Given the description of an element on the screen output the (x, y) to click on. 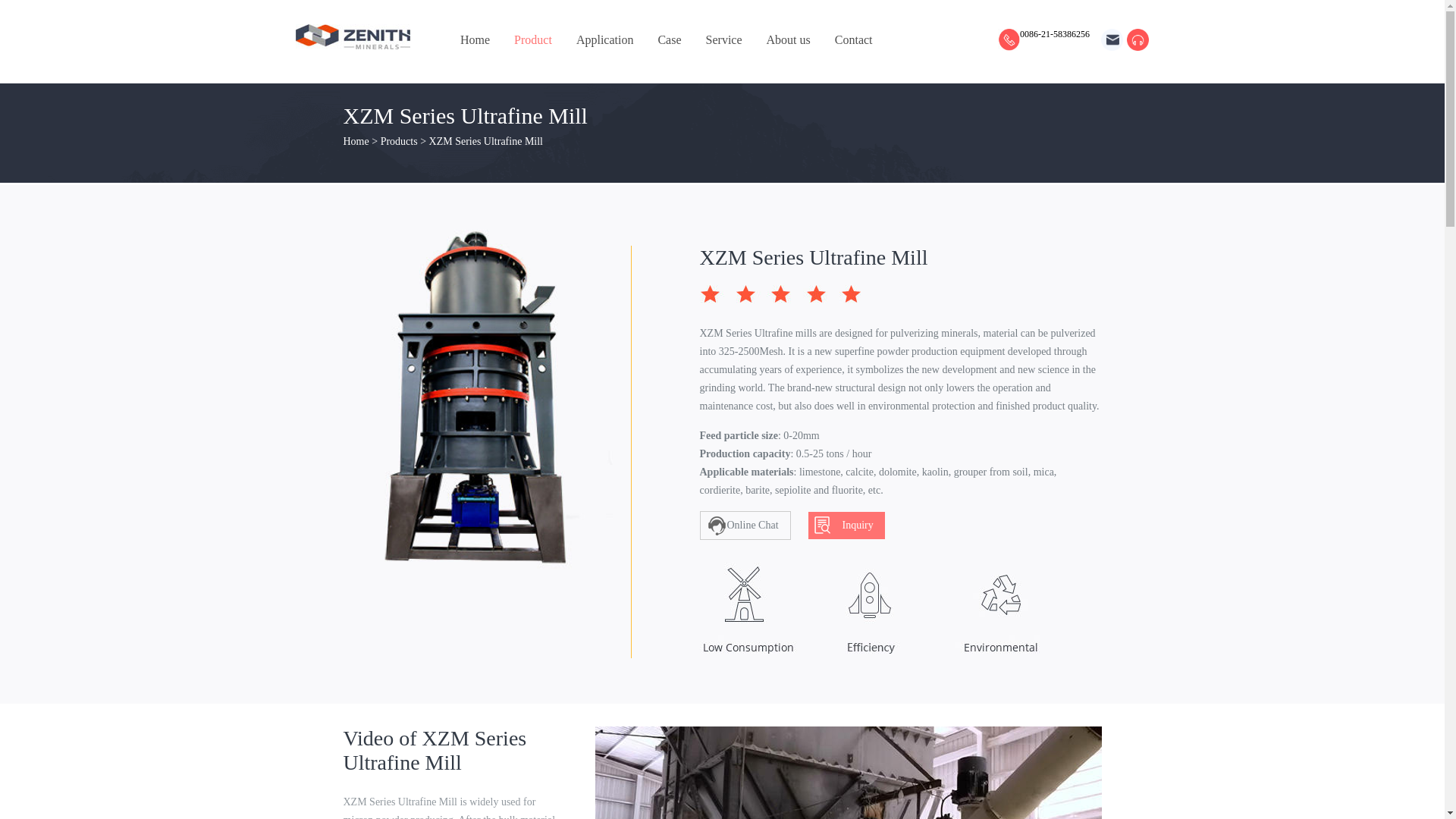
Home (356, 141)
Product (532, 39)
About us (789, 39)
free online chat (1137, 39)
Inquiry (846, 524)
Online Chat (744, 525)
Contact (853, 39)
Home (474, 39)
Application (604, 39)
Case (668, 39)
